Given the description of an element on the screen output the (x, y) to click on. 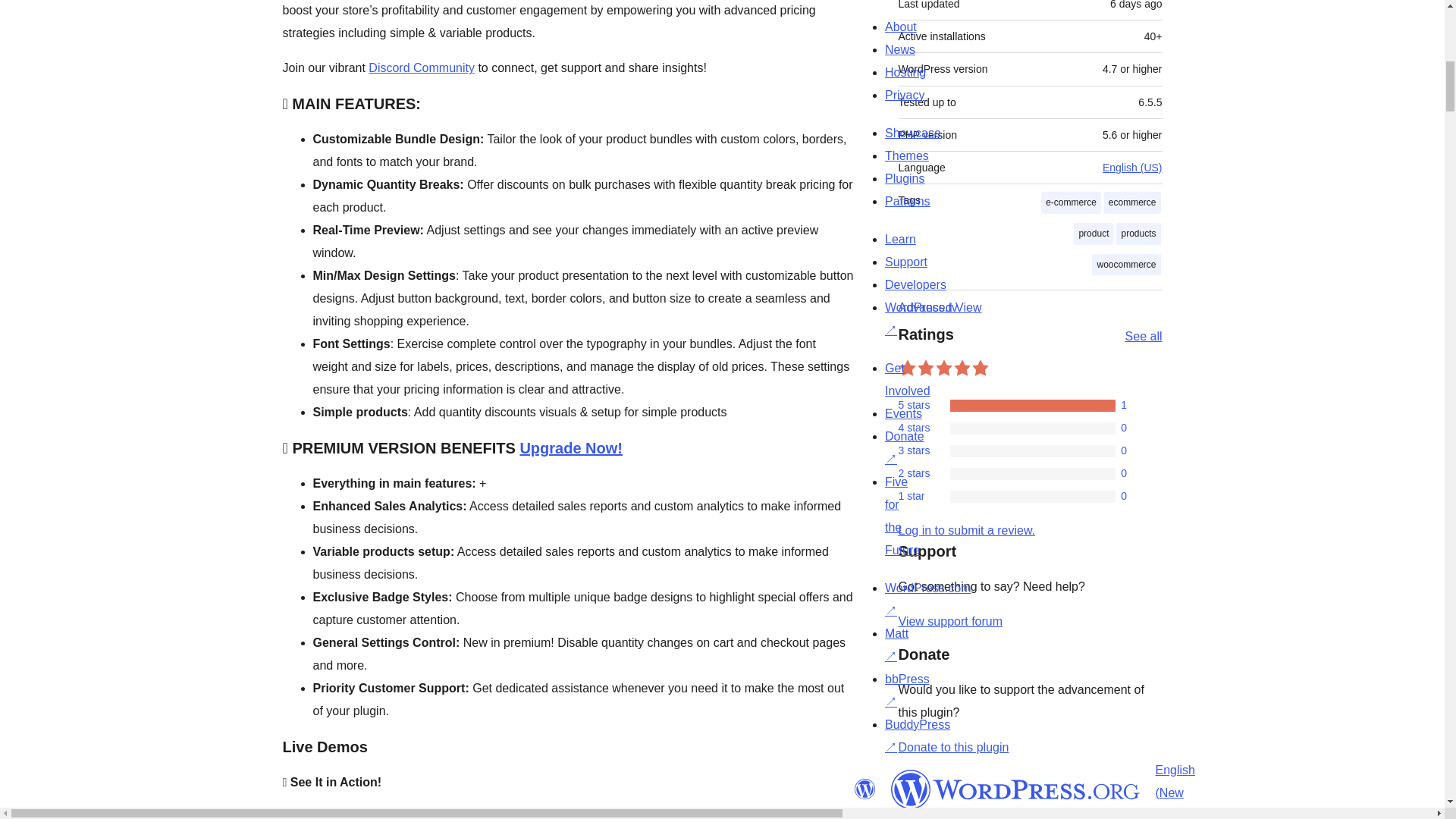
Visit DEMO (692, 814)
Log in to WordPress.org (966, 530)
Upgrade Now! (571, 447)
WordPress.org (864, 789)
WordPress.org (1014, 789)
Discord Community (421, 67)
